Given the description of an element on the screen output the (x, y) to click on. 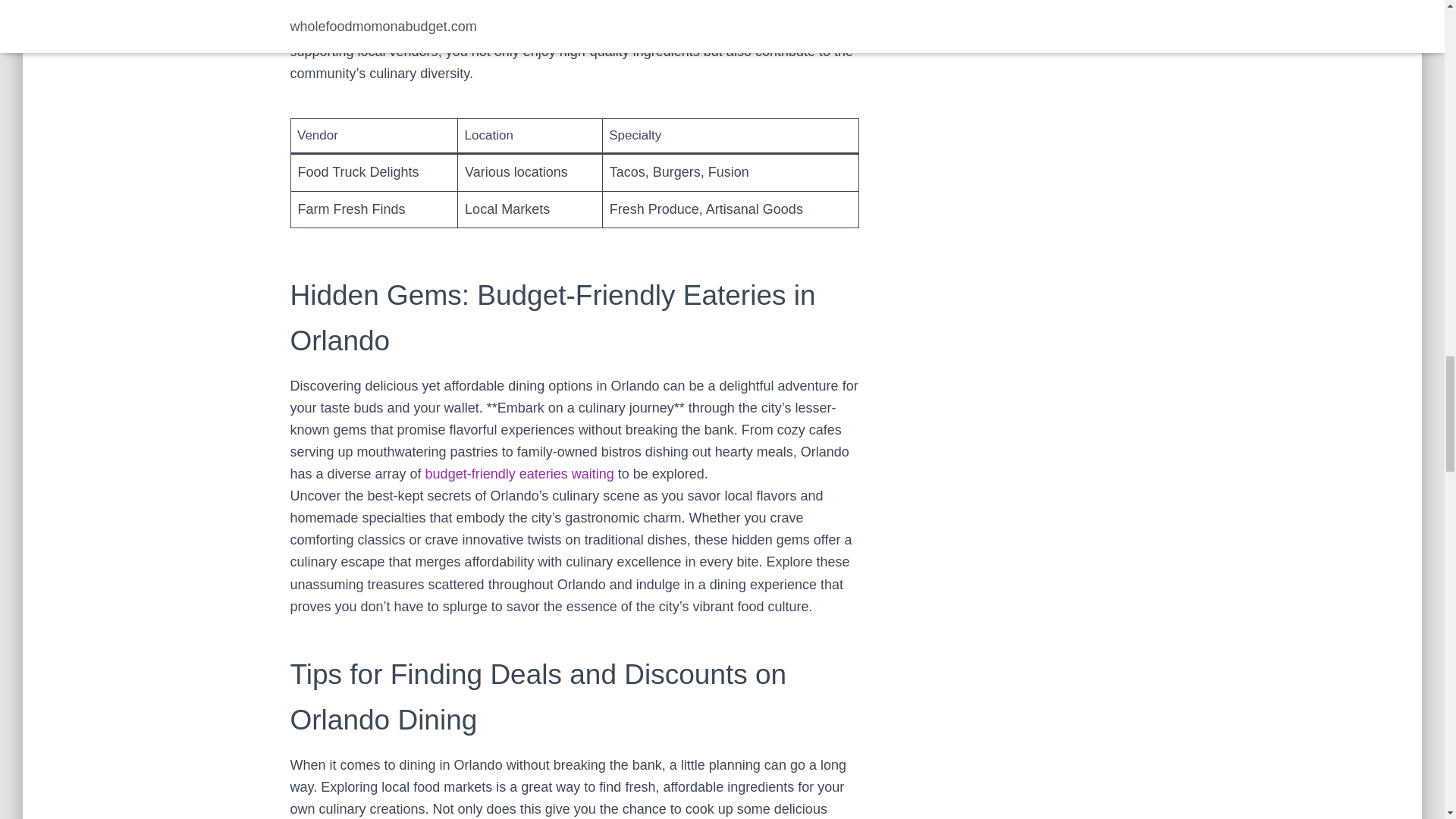
budget-friendly eateries waiting (519, 473)
eating on a budget in copenhagen (519, 473)
